Given the description of an element on the screen output the (x, y) to click on. 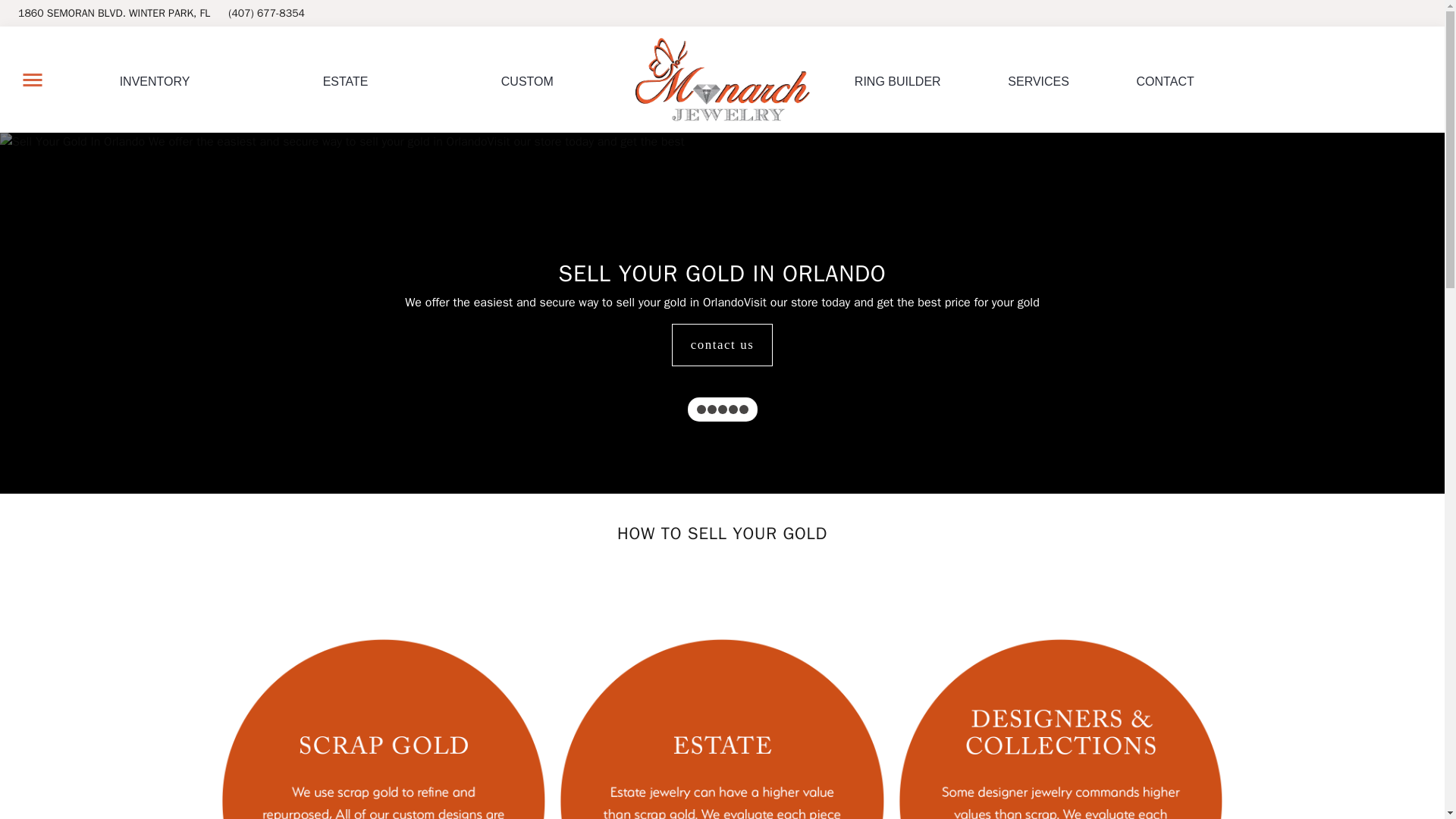
Skip to main content (345, 79)
